Given the description of an element on the screen output the (x, y) to click on. 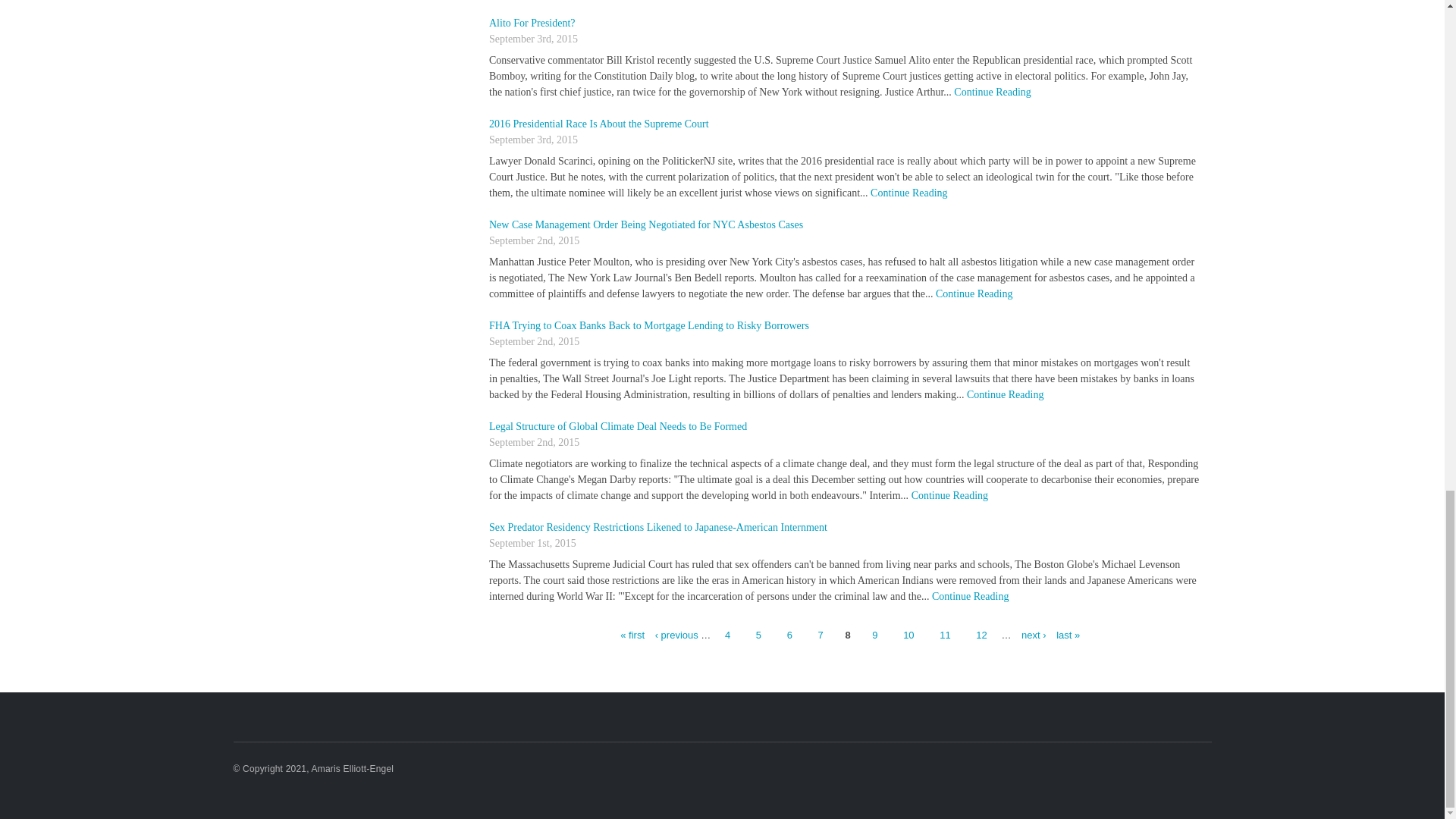
Go to page 12 (980, 634)
Continue Reading (908, 193)
Alito For President? (532, 22)
Continue Reading (1004, 394)
Go to page 11 (944, 634)
2016 Presidential Race Is About the Supreme Court (599, 123)
Go to page 9 (874, 634)
Go to page 7 (820, 634)
Go to previous page (676, 634)
Go to last page (1064, 634)
Continue Reading (949, 495)
Continue Reading (991, 91)
Go to page 4 (727, 634)
